Given the description of an element on the screen output the (x, y) to click on. 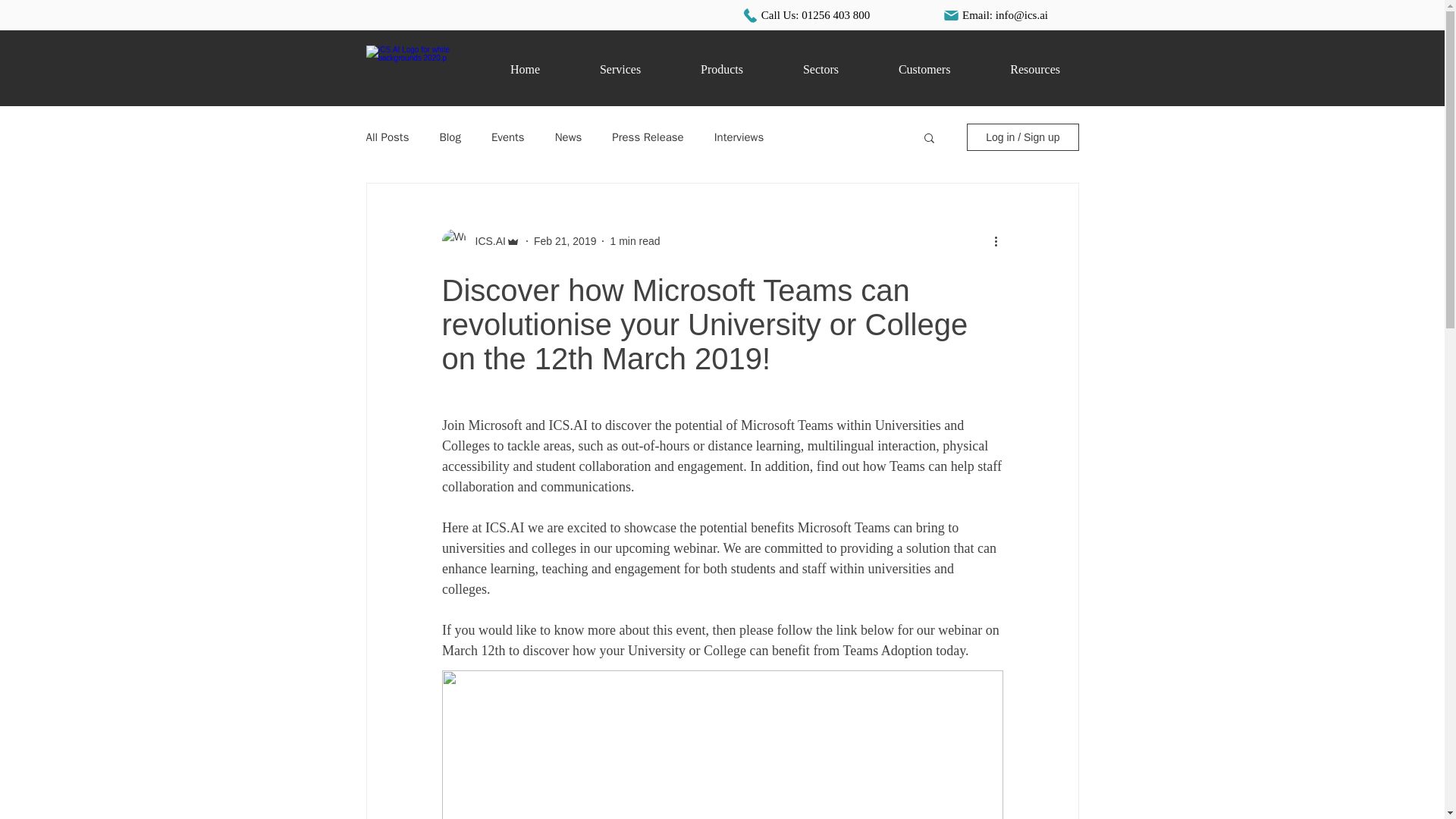
Feb 21, 2019 (565, 241)
ICS.AI (485, 241)
Home (525, 69)
Customers (923, 69)
Call Us: 01256 403 800 (805, 15)
1 min read (785, 69)
